Given the description of an element on the screen output the (x, y) to click on. 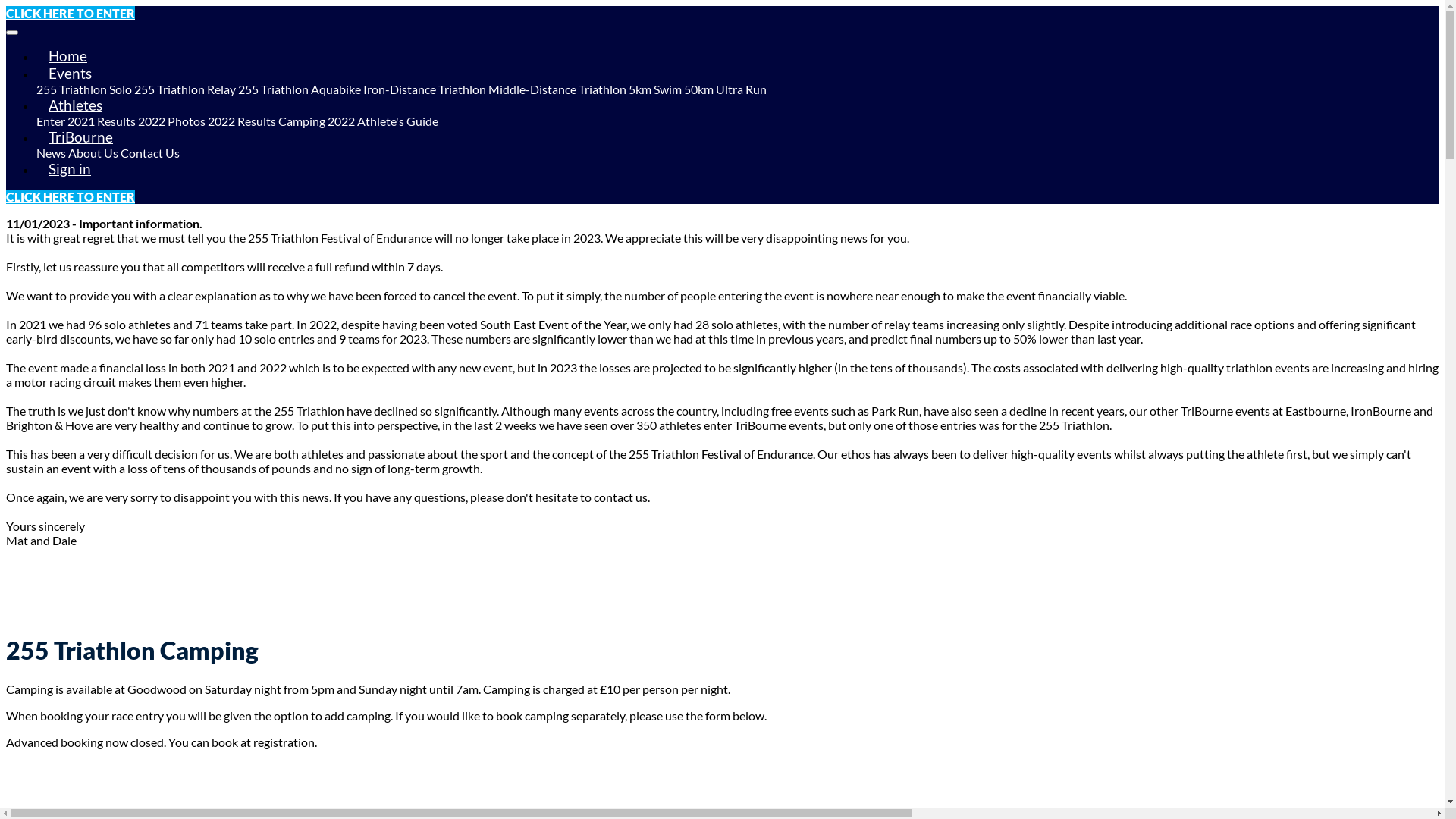
TriBourne Element type: text (80, 136)
Enter Element type: text (50, 120)
Contact Us Element type: text (149, 152)
Events Element type: text (69, 72)
255 Triathlon Relay Element type: text (184, 88)
255 Triathlon Solo Element type: text (83, 88)
50km Ultra Run Element type: text (725, 88)
2021 Results Element type: text (101, 120)
News Element type: text (50, 152)
About Us Element type: text (93, 152)
Athletes Element type: text (75, 104)
2022 Athlete's Guide Element type: text (382, 120)
Camping Element type: text (301, 120)
CLICK HERE TO ENTER Element type: text (70, 196)
2022 Results Element type: text (241, 120)
Iron-Distance Triathlon Element type: text (424, 88)
255 Triathlon Aquabike Element type: text (299, 88)
Home Element type: text (67, 55)
CLICK HERE TO ENTER Element type: text (70, 13)
5km Swim Element type: text (654, 88)
Middle-Distance Triathlon Element type: text (557, 88)
2022 Photos Element type: text (171, 120)
Sign in Element type: text (69, 168)
